Given the description of an element on the screen output the (x, y) to click on. 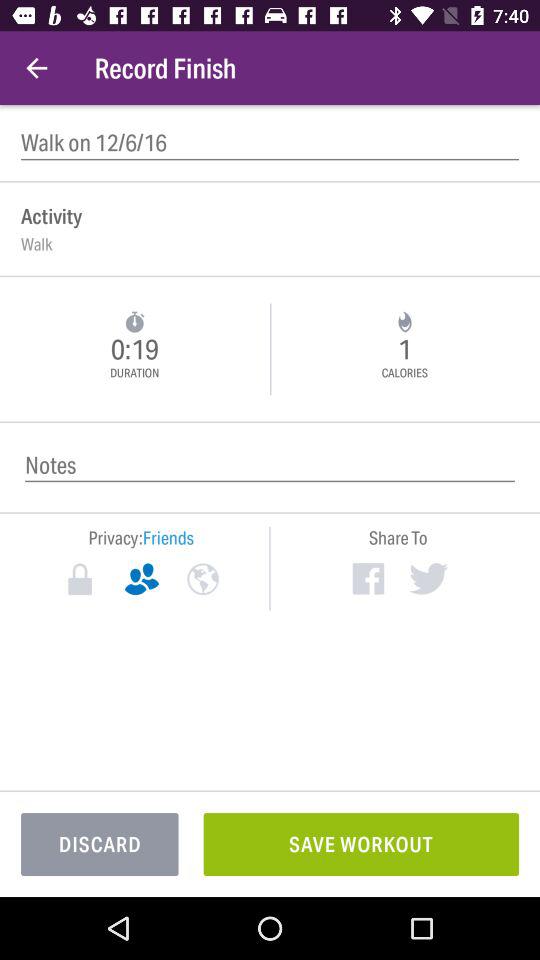
only friends can view results (141, 579)
